Given the description of an element on the screen output the (x, y) to click on. 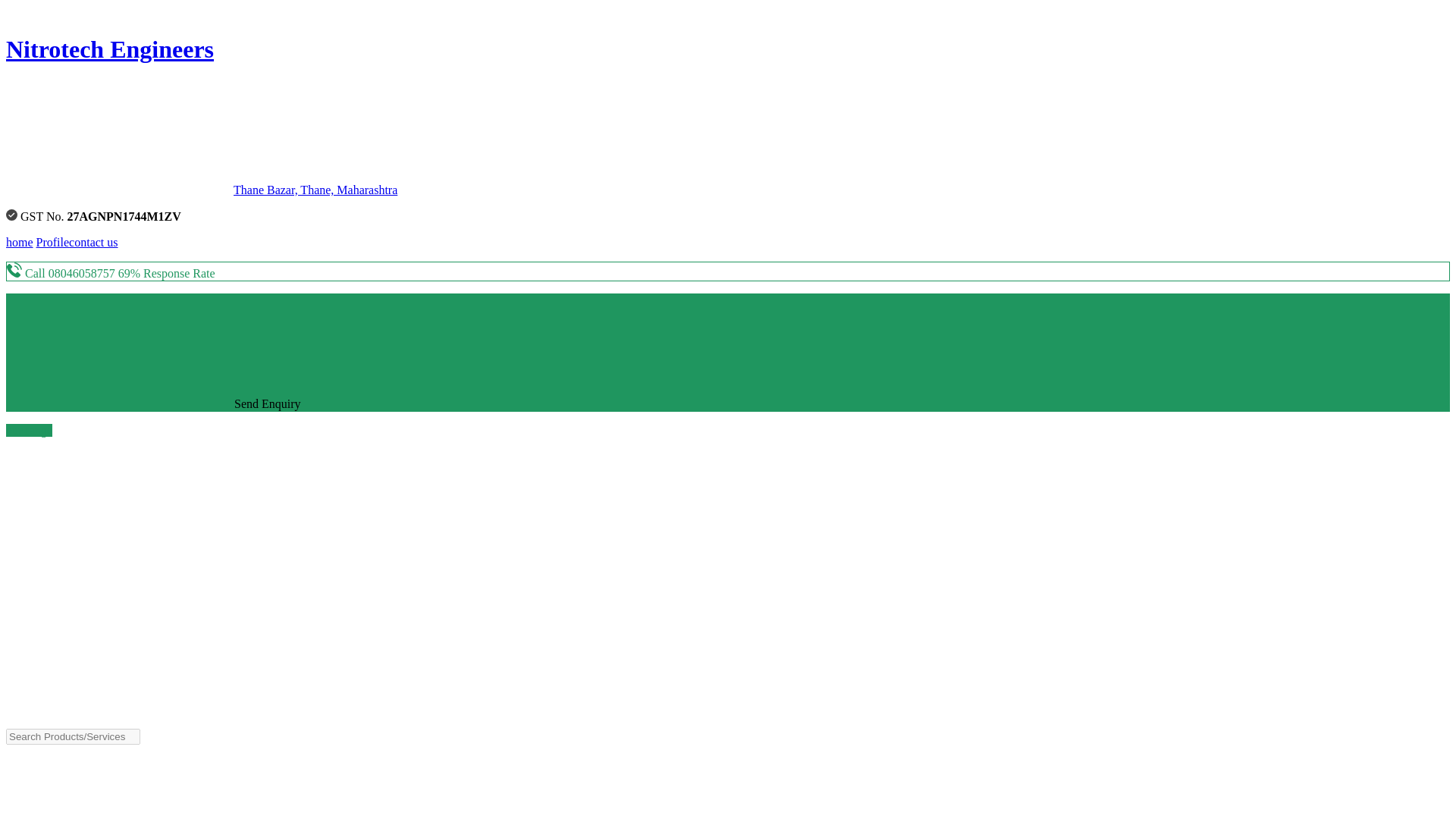
our range (28, 430)
contact us (92, 241)
home (19, 241)
Profile (52, 241)
